Given the description of an element on the screen output the (x, y) to click on. 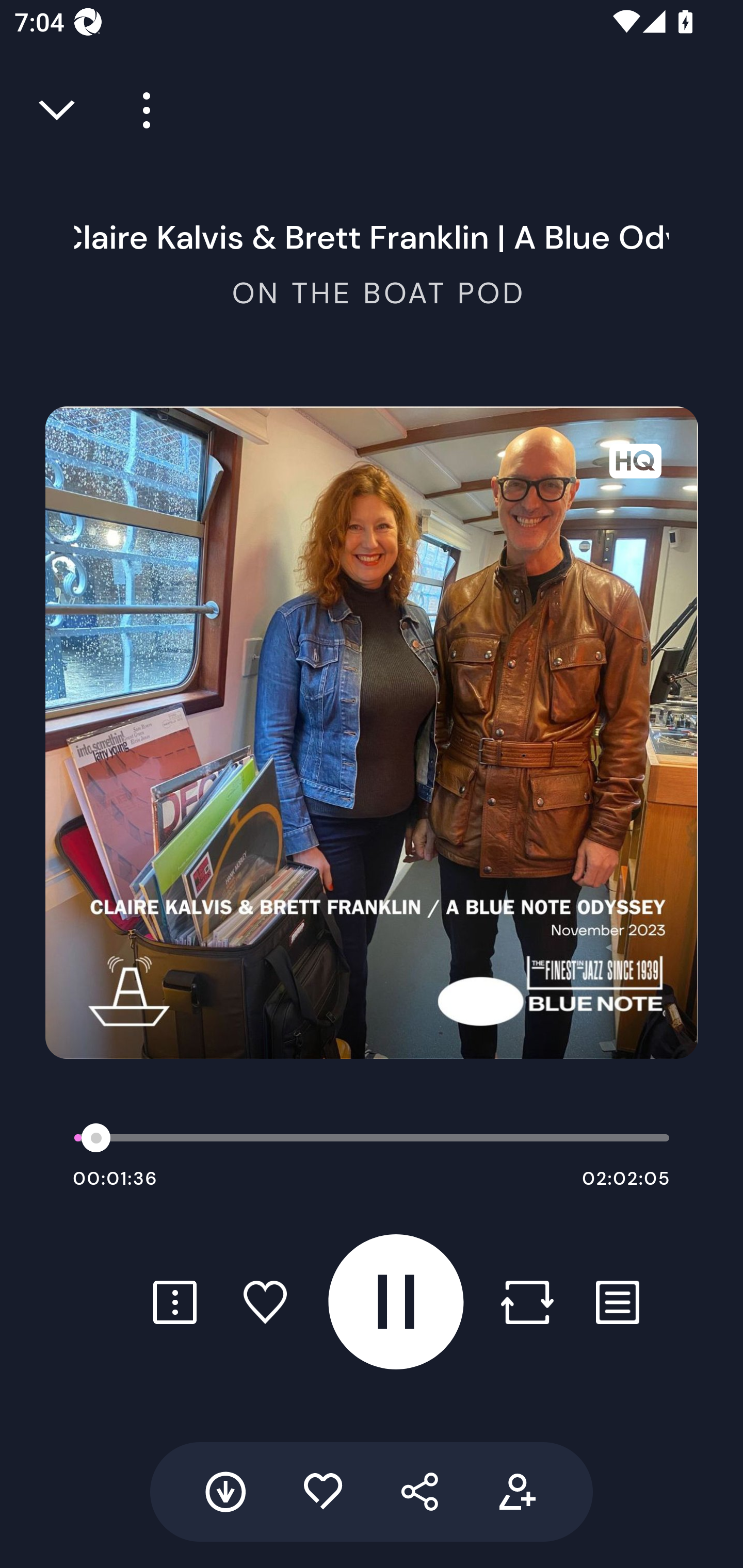
Close full player (58, 110)
Player more options button (139, 110)
Repost button (527, 1301)
